Given the description of an element on the screen output the (x, y) to click on. 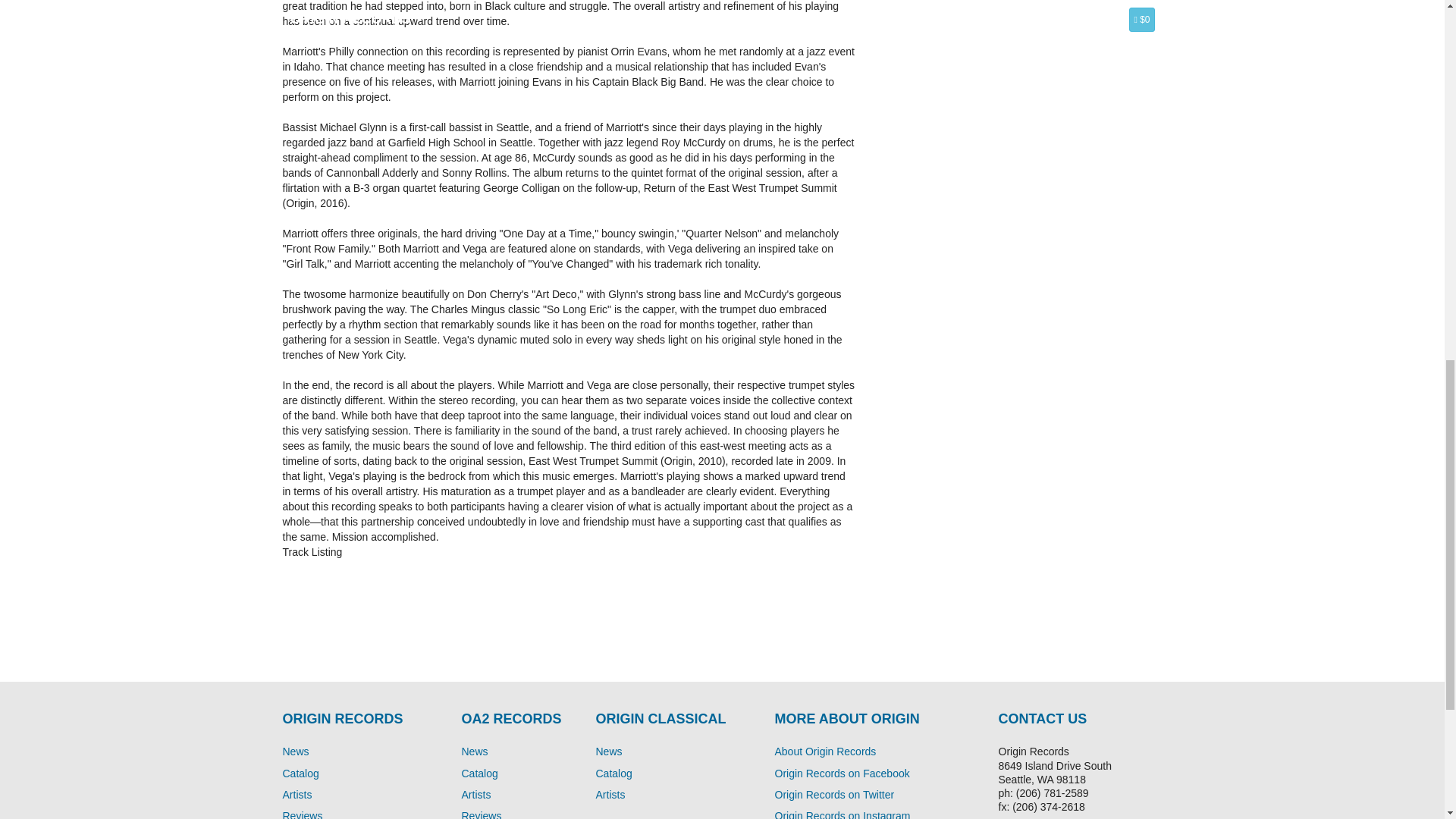
Origin Records on Facebook (842, 773)
Reviews (301, 814)
OA2 Records Catalog (613, 773)
Origin Classical Records (609, 751)
Catalog (613, 773)
OA2 Records Artists (475, 794)
Artists (475, 794)
Artists (610, 794)
Origin Records Artists (296, 794)
Artists (296, 794)
Origin Records Catalog (300, 773)
Origin Records (295, 751)
Origin Records on Instagram (842, 814)
OA2 Records (474, 751)
Catalog (479, 773)
